Given the description of an element on the screen output the (x, y) to click on. 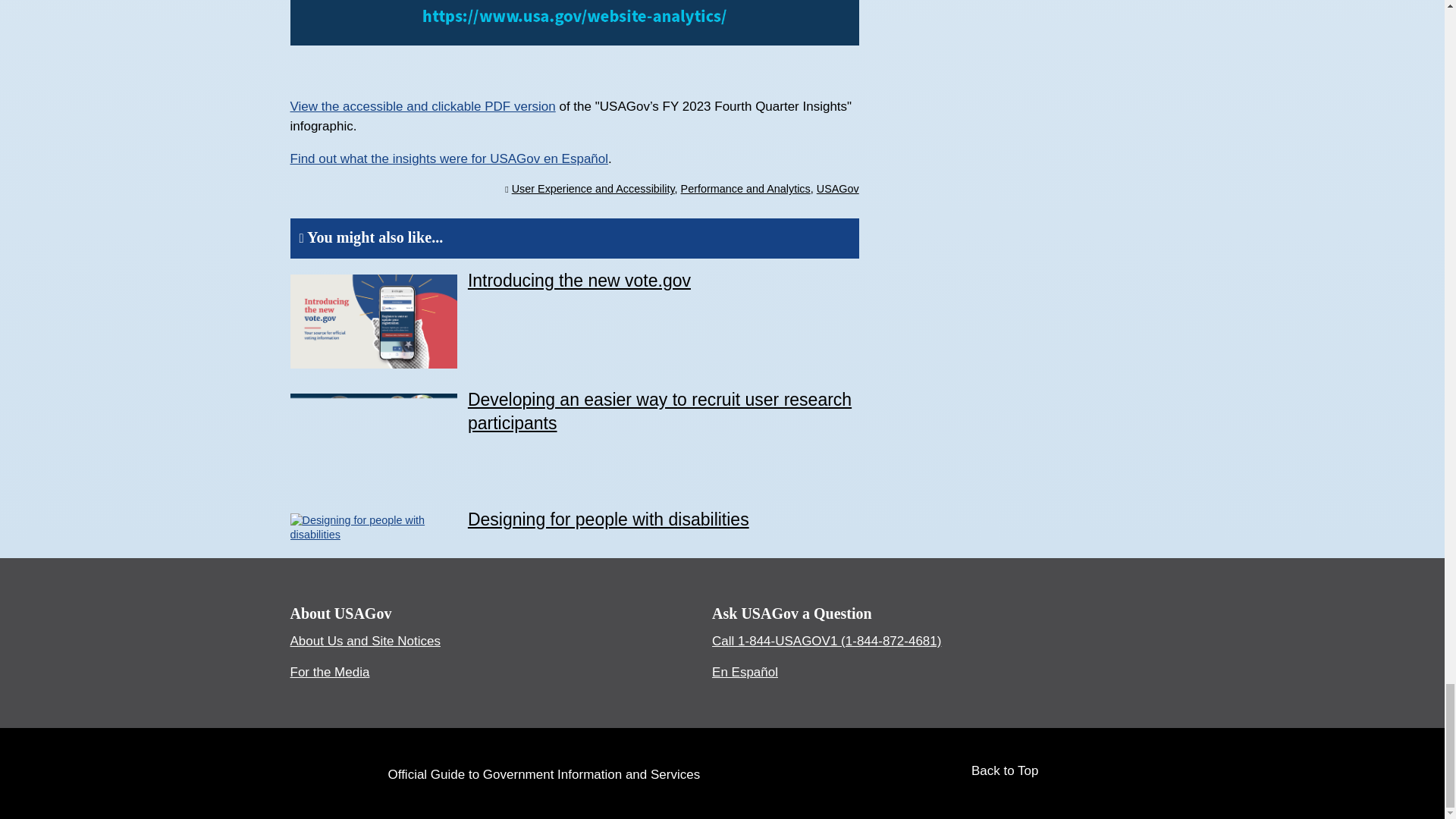
Designing for people with disabilities (608, 519)
Introducing the new vote.gov (578, 280)
Performance and Analytics (745, 188)
Back to Top (1016, 772)
View the accessible and clickable PDF version (421, 106)
For the Media (329, 672)
User Experience and Accessibility (593, 188)
About Us and Site Notices (364, 640)
